Given the description of an element on the screen output the (x, y) to click on. 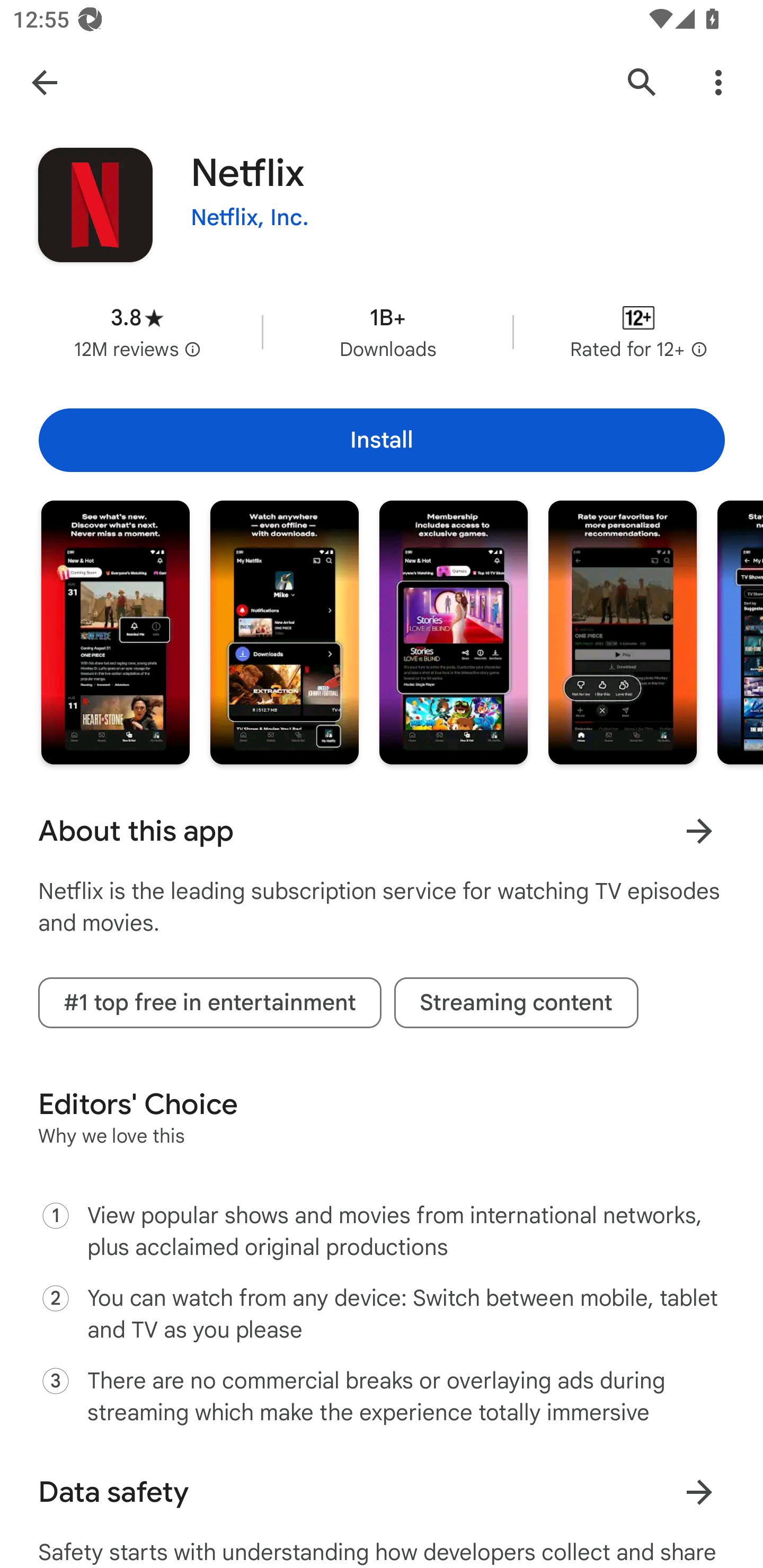
Navigate up (44, 81)
Search Google Play (642, 81)
More Options (718, 81)
Netflix, Inc. (249, 217)
Average rating 3.8 stars in 12 million reviews (137, 331)
Content rating Rated for 12+ (638, 331)
Install (381, 439)
Screenshot "1" of "7" (115, 632)
Screenshot "2" of "7" (284, 632)
Screenshot "3" of "7" (453, 632)
Screenshot "4" of "7" (622, 632)
About this app Learn more About this app (381, 830)
Learn more About this app (699, 830)
#1 top free in entertainment tag (209, 1002)
Streaming content tag (516, 1002)
Data safety Learn more about data safety (381, 1491)
Learn more about data safety (699, 1491)
